Given the description of an element on the screen output the (x, y) to click on. 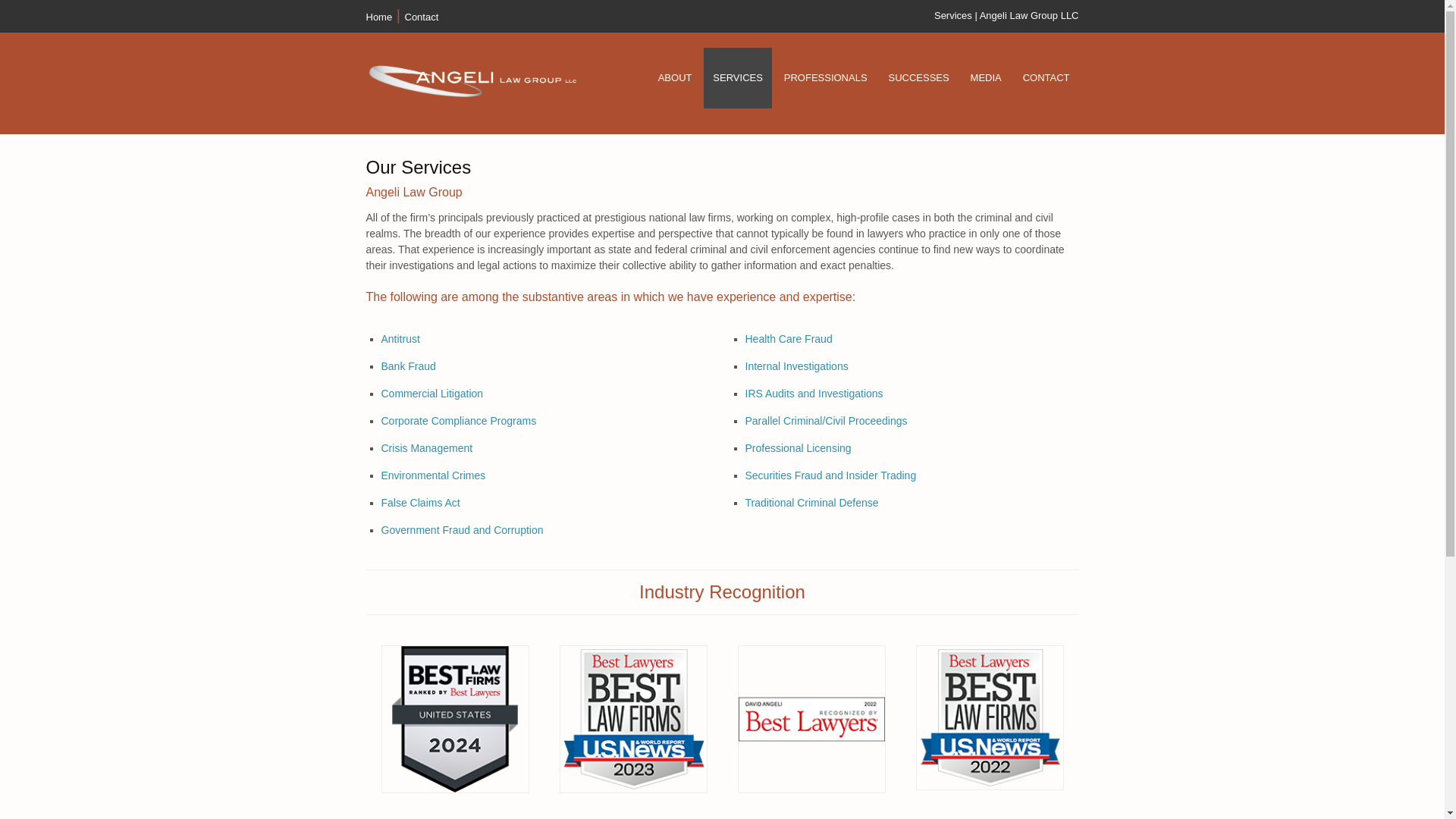
Securities Fraud and Insider Trading (829, 475)
Health Care Fraud (787, 338)
Corporate Compliance Programs (457, 420)
CONTACT (1045, 77)
IRS Audits and Investigations (813, 393)
Crisis Management (425, 448)
Antitrust (399, 338)
Traditional Criminal Defense (810, 502)
False Claims Act (420, 502)
PROFESSIONALS (825, 77)
Home (378, 16)
MEDIA (985, 77)
Bank Fraud (407, 366)
Environmental Crimes (432, 475)
Internal Investigations (795, 366)
